Given the description of an element on the screen output the (x, y) to click on. 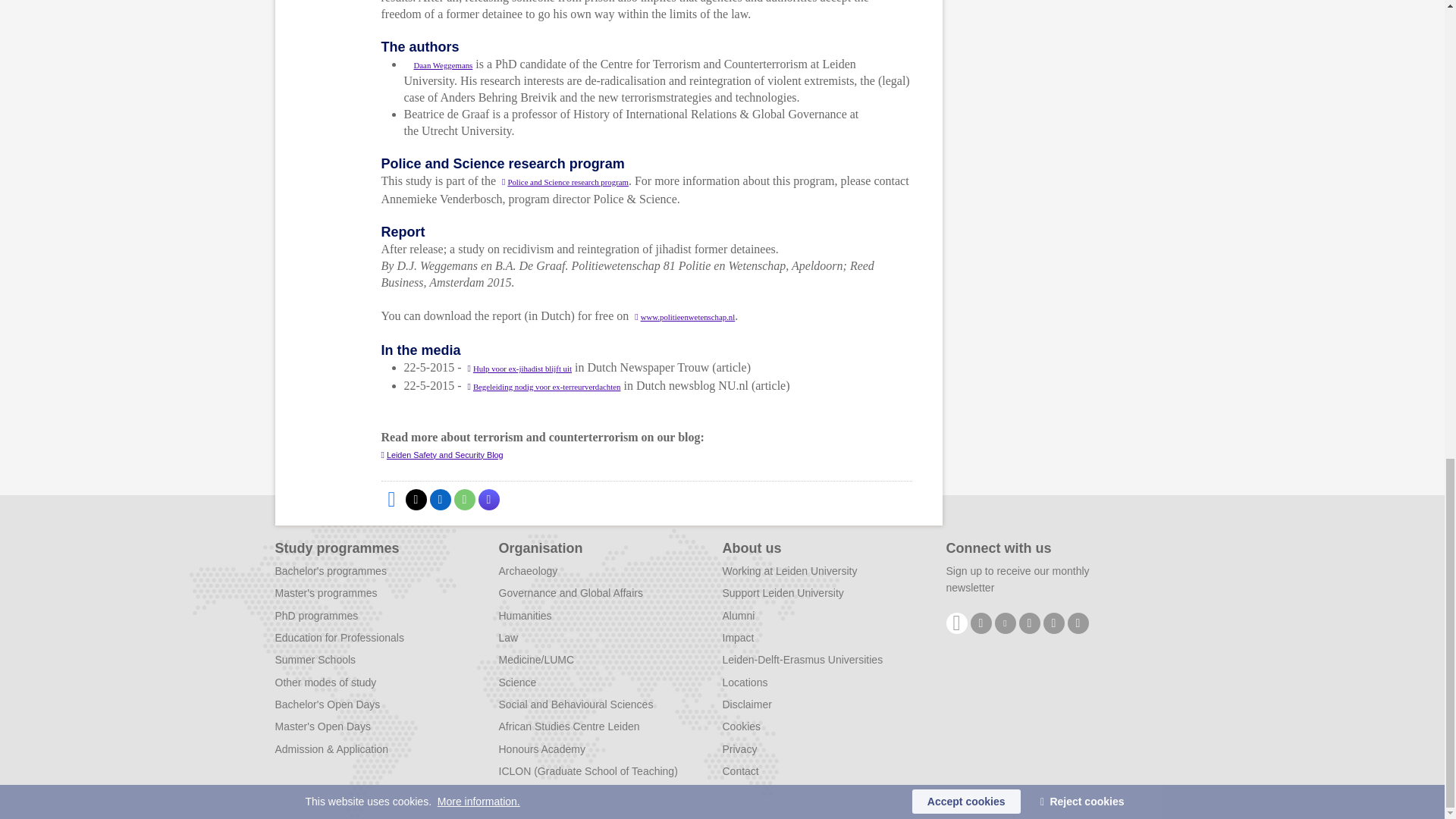
Share on Facebook (390, 499)
Begeleiding nodig voor ex-terreurverdachten (543, 386)
Share on LinkedIn (439, 499)
Share on X (415, 499)
Share by Mastodon (488, 499)
Hulp voor ex-jihadist blijft uit (519, 368)
Police and Science research program (565, 181)
www.politieenwetenschap.nl (684, 316)
Daan Weggemans (437, 64)
Share by WhatsApp (463, 499)
